Given the description of an element on the screen output the (x, y) to click on. 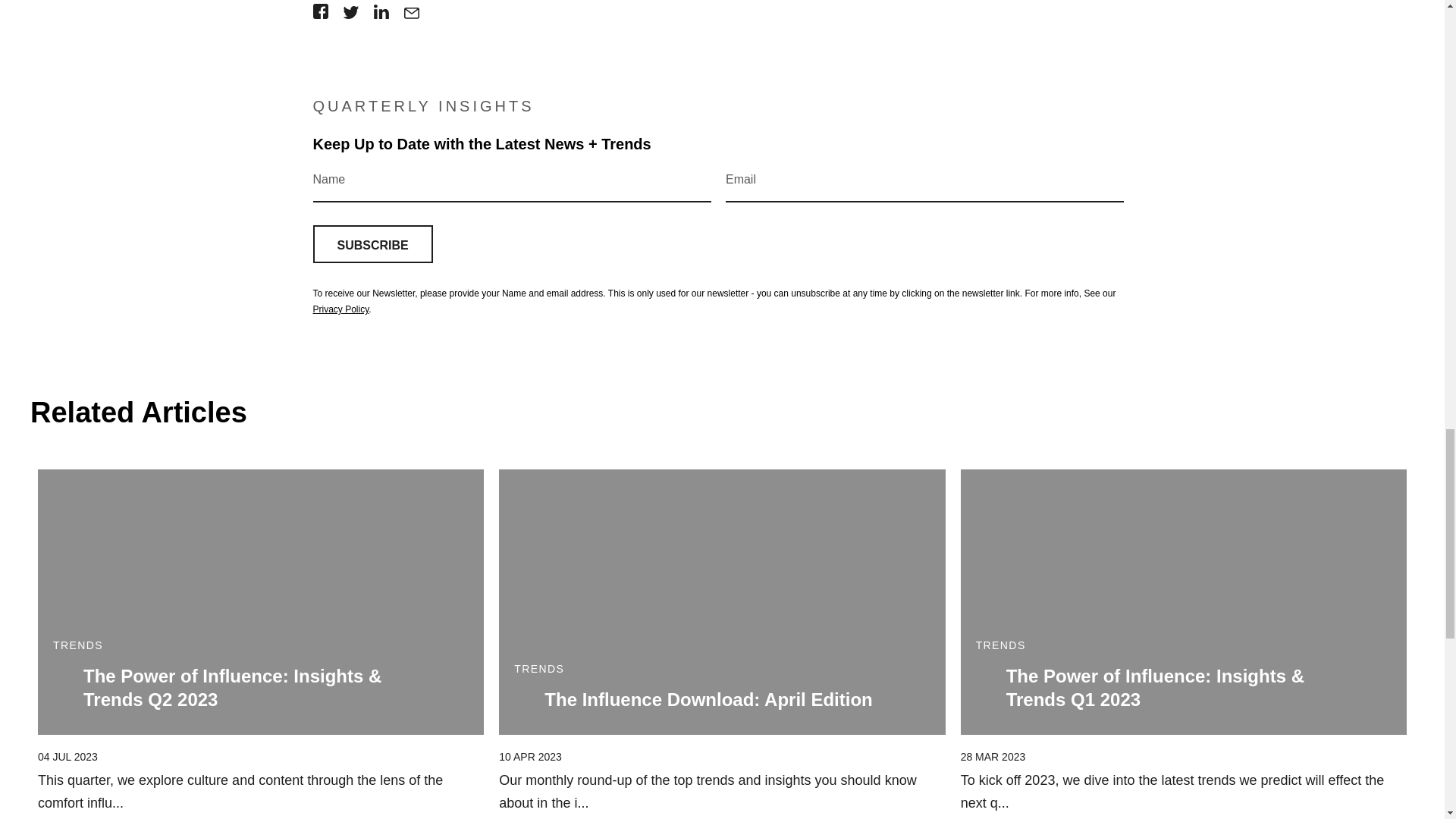
Subscribe (372, 243)
Privacy Policy (340, 308)
Subscribe (372, 243)
